Given the description of an element on the screen output the (x, y) to click on. 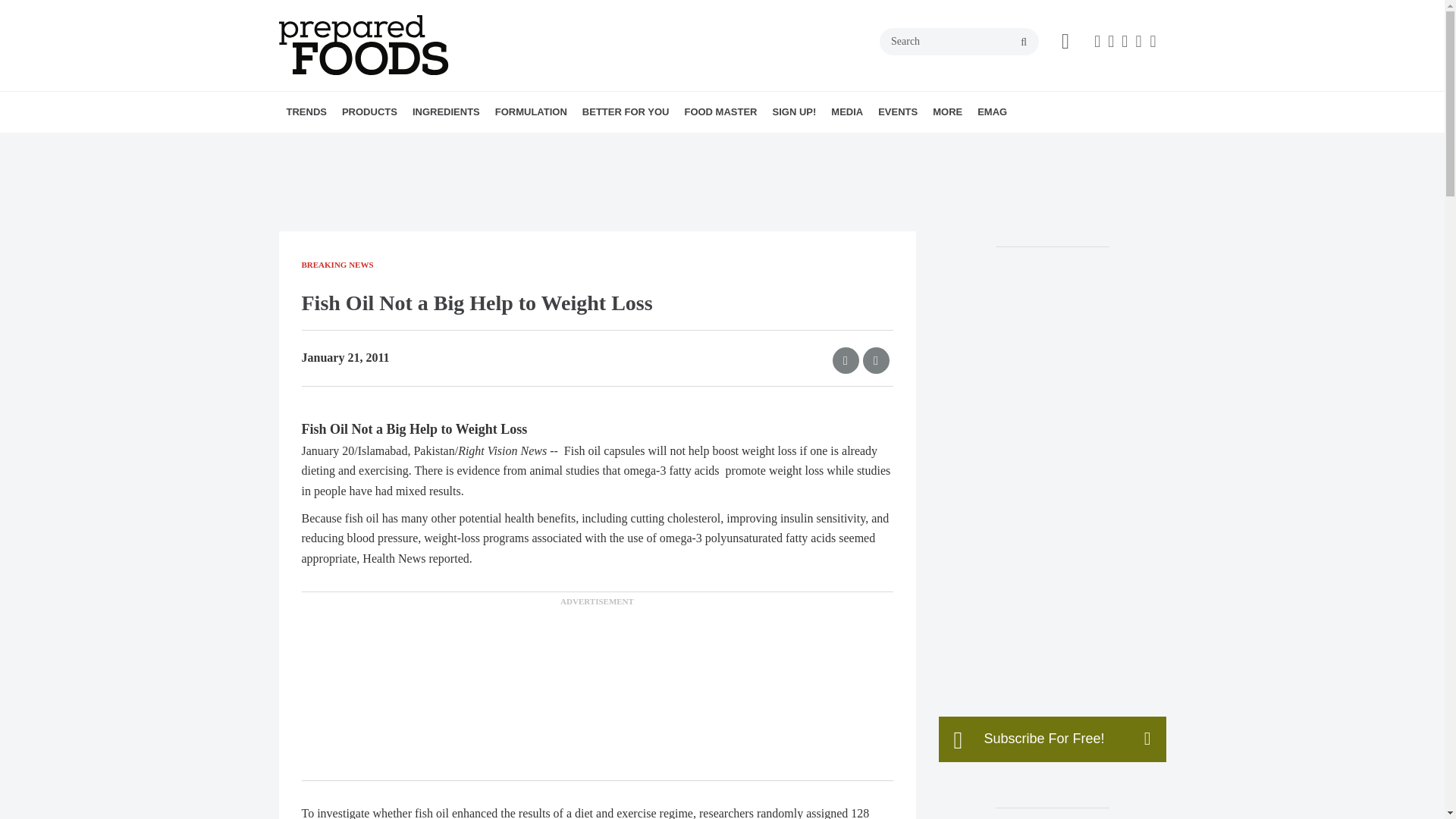
COLORINGS (506, 145)
Search (959, 41)
FLAVORS, SEASONINGS, SPICES (522, 145)
CANDY (448, 145)
2024 TRENDS (373, 145)
SOUPS (472, 145)
DAIRY (456, 145)
BEVERAGES (436, 145)
DIETARY FIBER (513, 145)
search (1023, 42)
